Given the description of an element on the screen output the (x, y) to click on. 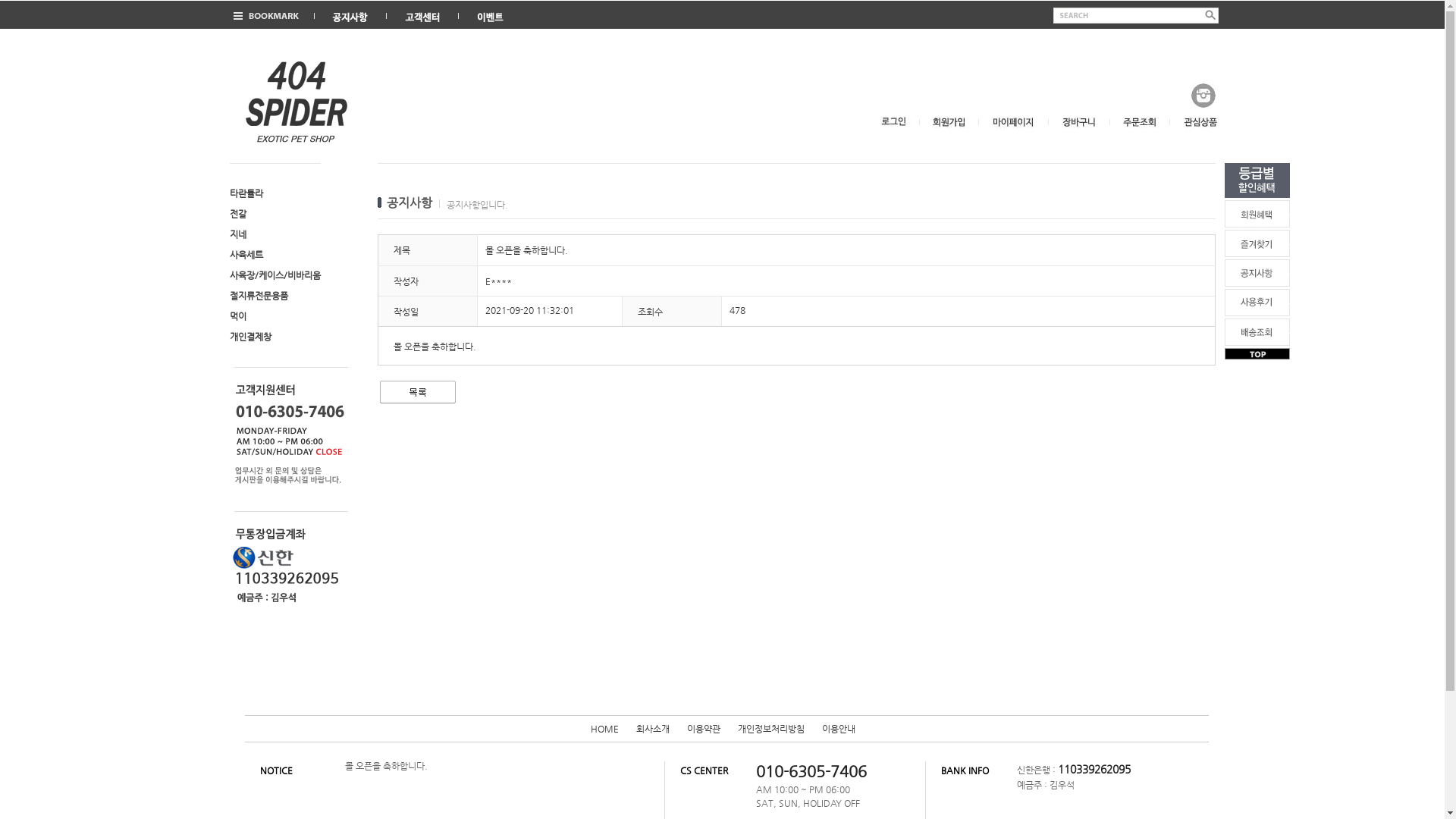
HOME Element type: text (603, 728)
